Given the description of an element on the screen output the (x, y) to click on. 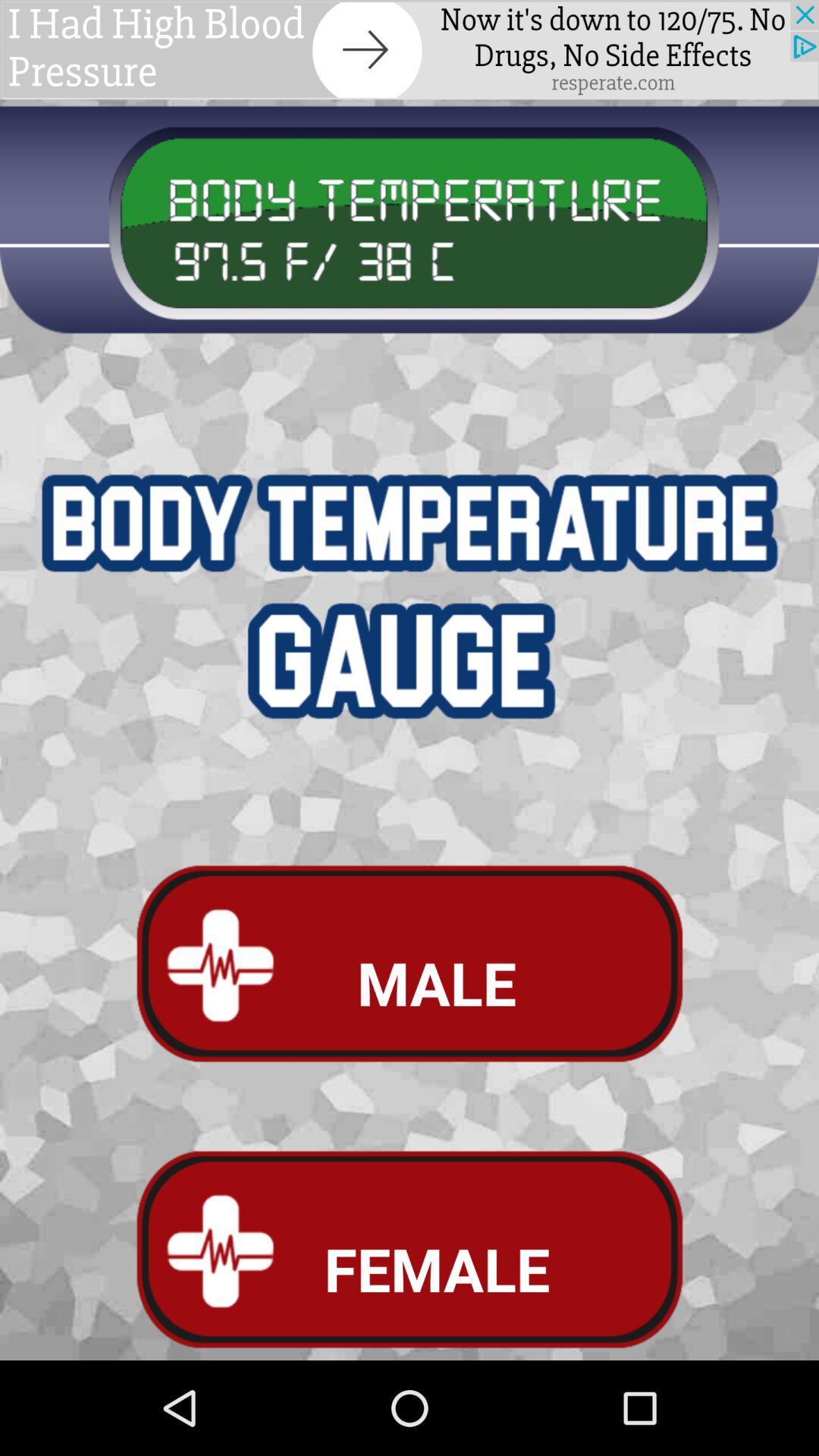
view advertisement (409, 49)
